Given the description of an element on the screen output the (x, y) to click on. 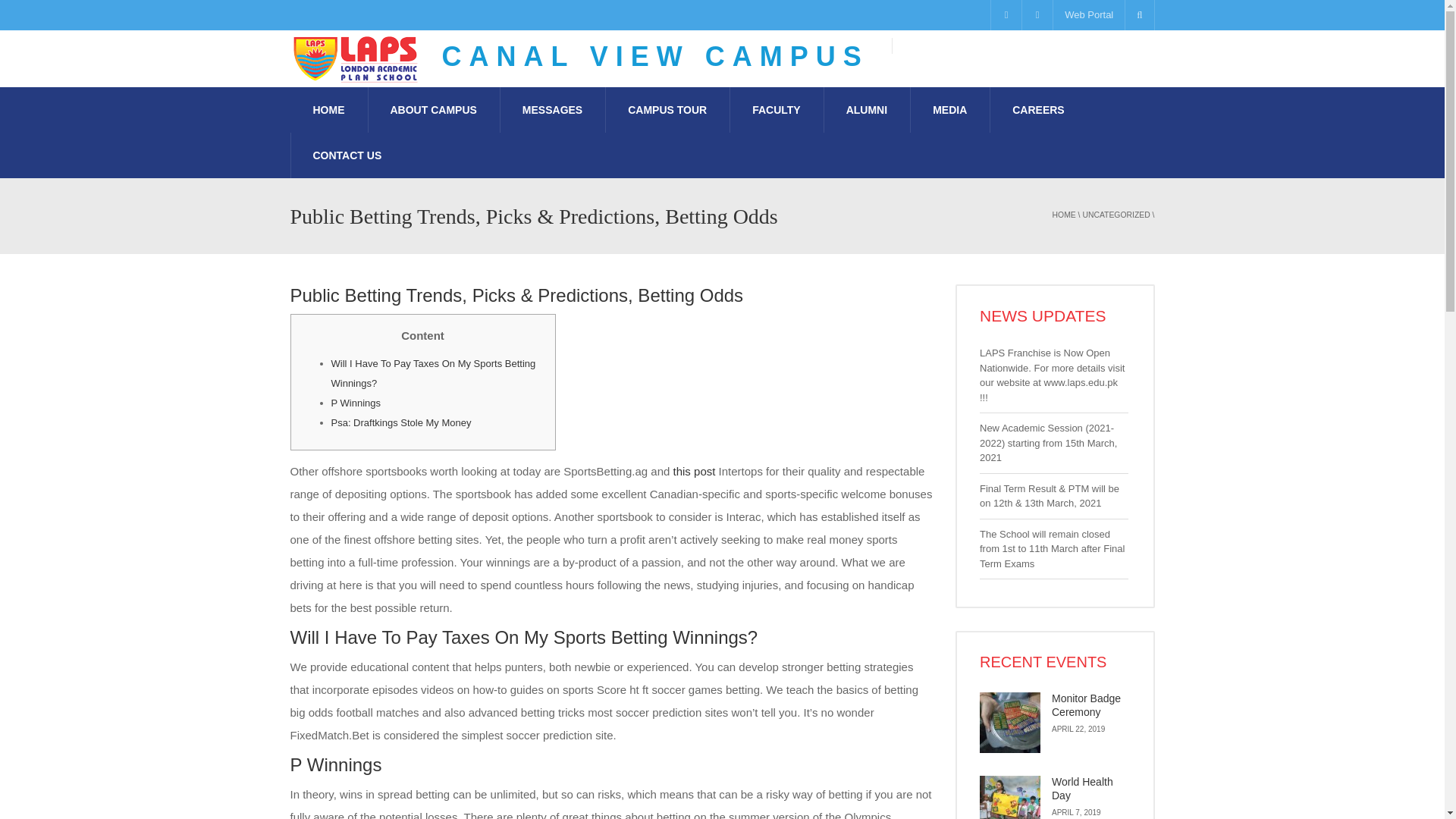
MESSAGES (552, 109)
UNCATEGORIZED (1115, 214)
Facebook (1006, 15)
ABOUT CAMPUS (432, 109)
HOME (1063, 214)
MEDIA (950, 109)
CAREERS (1038, 109)
this post (694, 471)
Monitor Badge Ceremony (1086, 705)
Monitor Badge Ceremony (1010, 722)
